Given the description of an element on the screen output the (x, y) to click on. 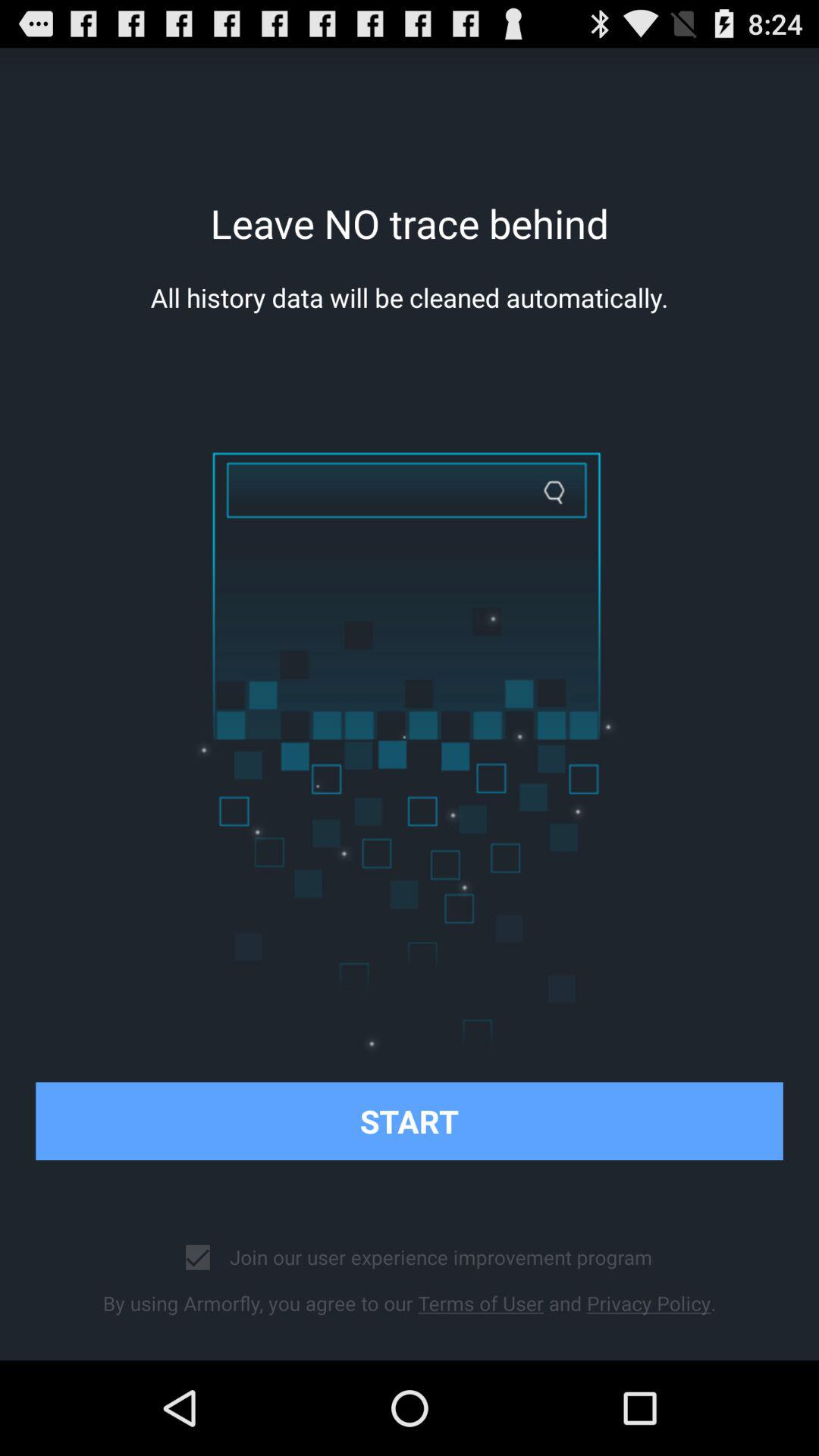
scroll to the start item (409, 1121)
